Given the description of an element on the screen output the (x, y) to click on. 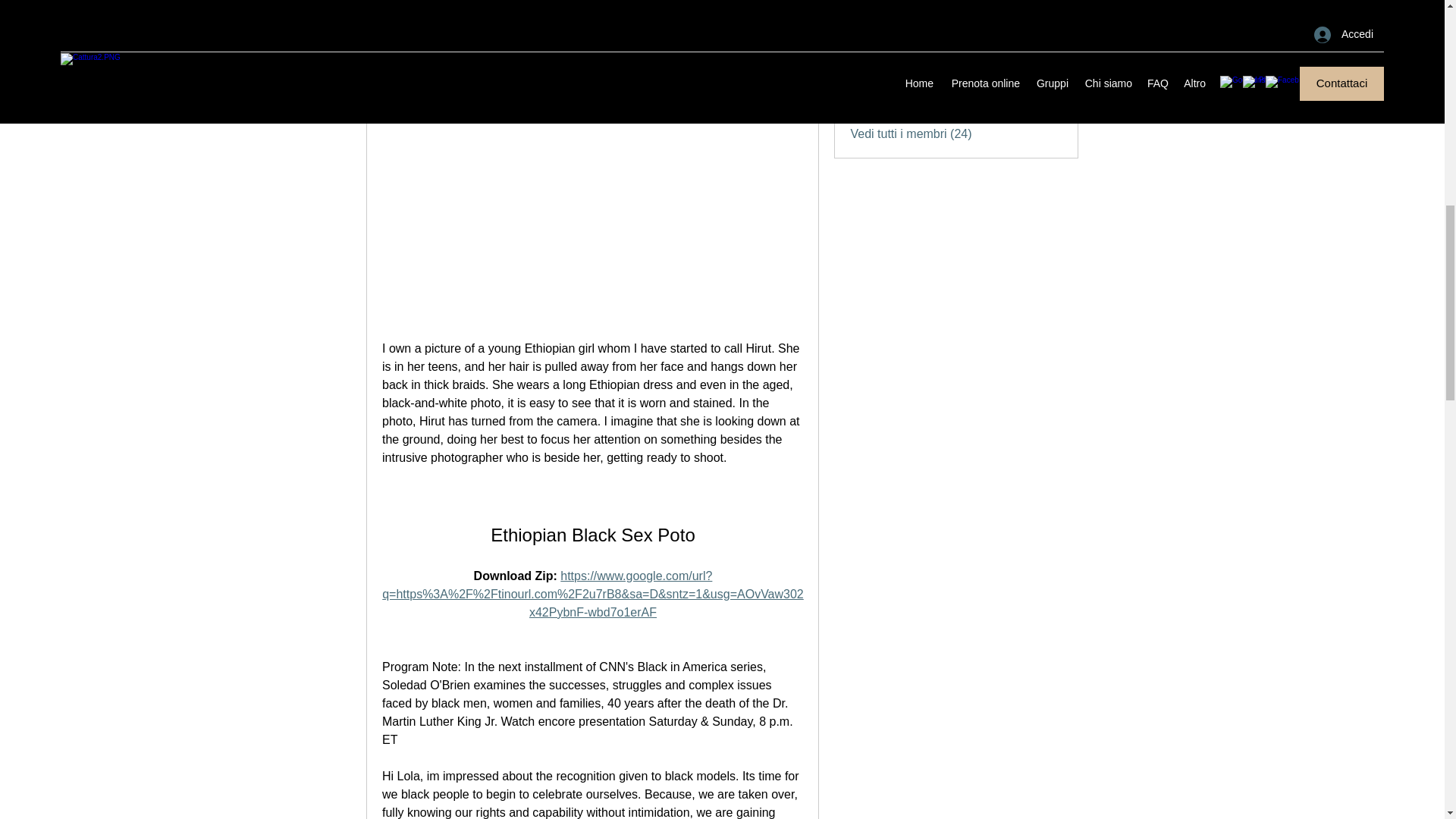
Morris Ryder (863, 0)
Segui (1047, 60)
Janet Gee (863, 23)
Janet Gee (914, 21)
Segui (1047, 23)
